Given the description of an element on the screen output the (x, y) to click on. 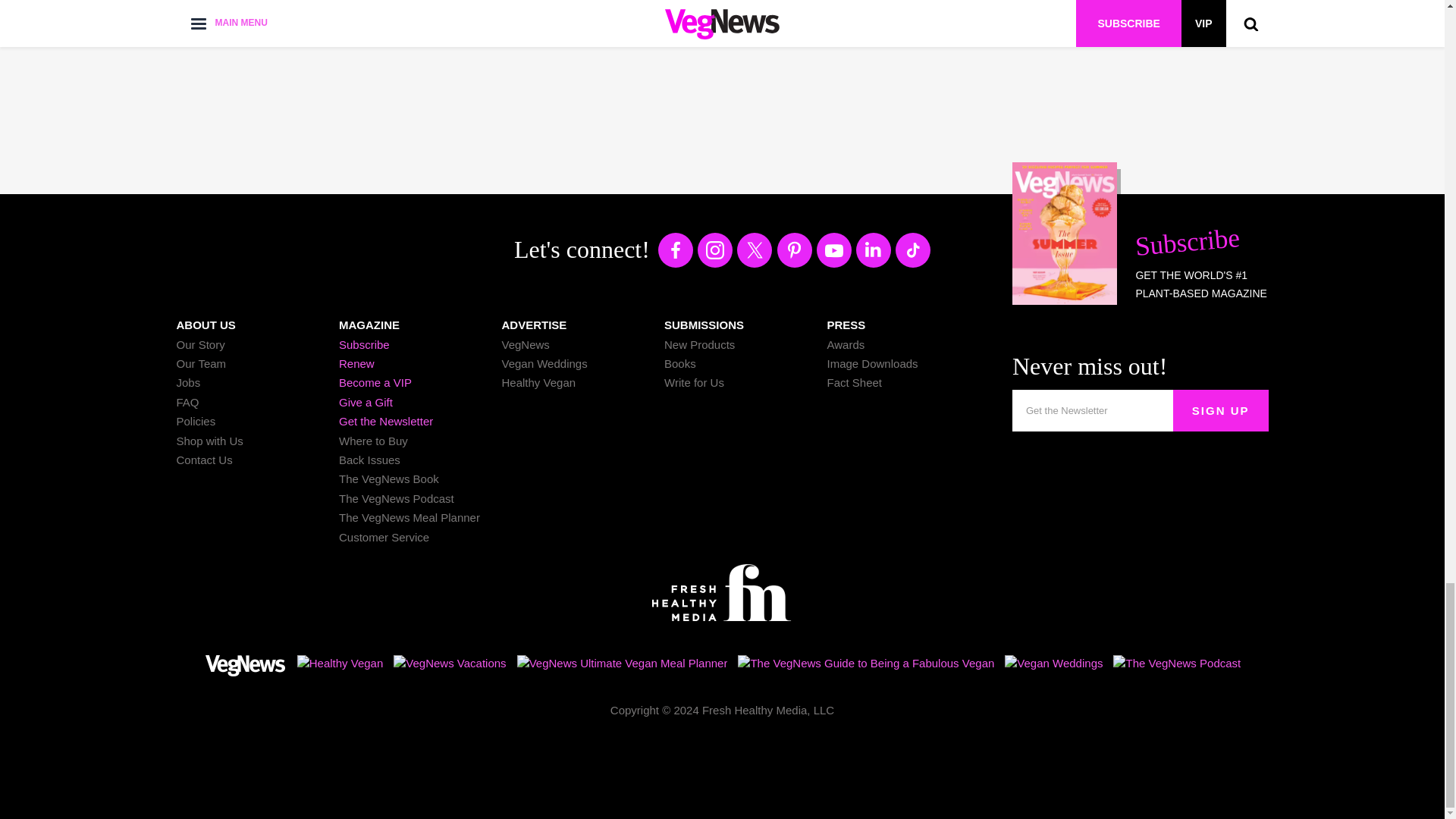
Sign Up (1220, 410)
